Given the description of an element on the screen output the (x, y) to click on. 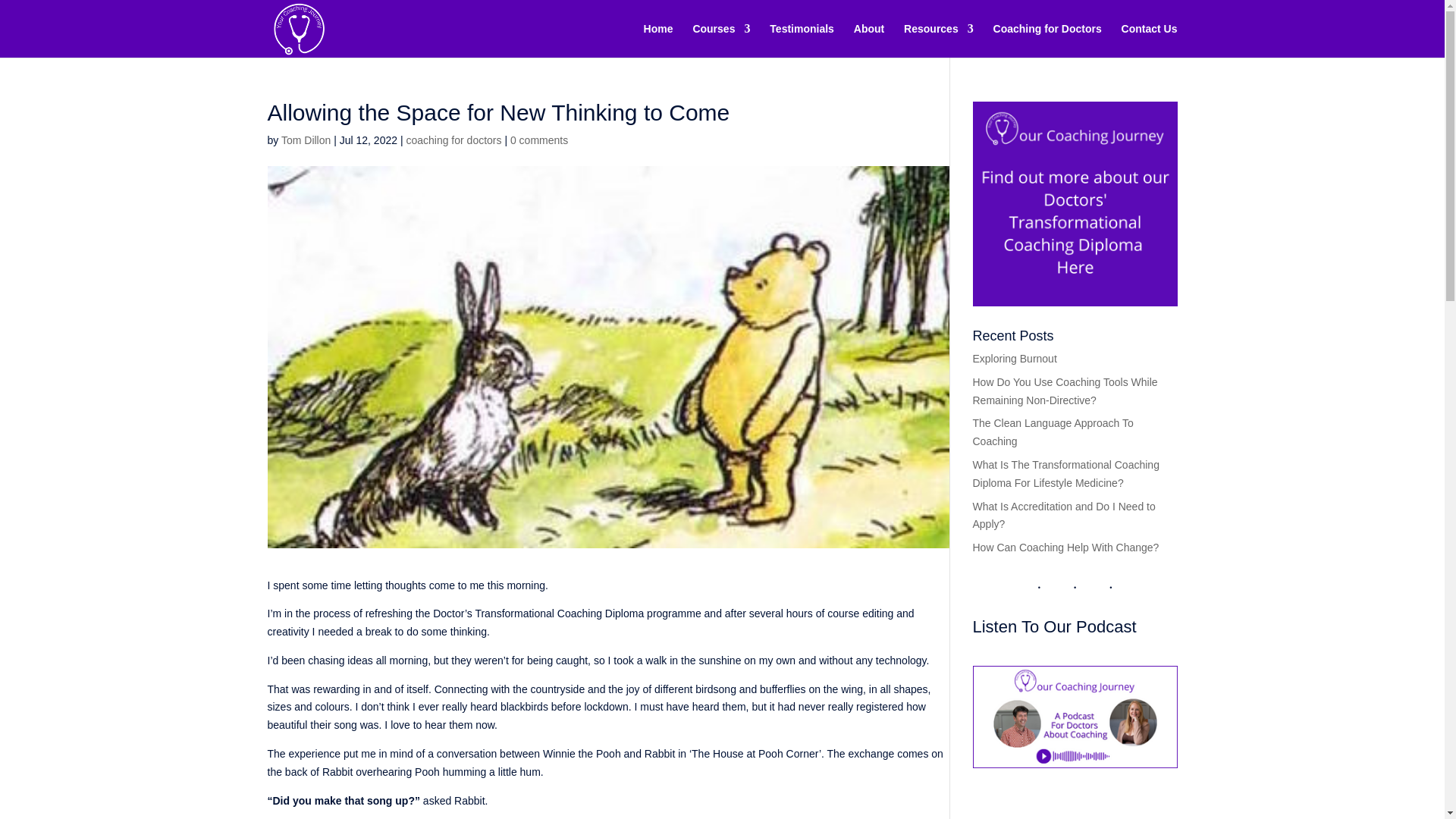
Tom Dillon (305, 140)
coaching for doctors (453, 140)
Posts by Tom Dillon (305, 140)
Courses (721, 40)
Resources (939, 40)
Exploring Burnout (1014, 358)
0 comments (539, 140)
Contact Us (1149, 40)
Coaching for Doctors (1047, 40)
Testimonials (802, 40)
